Given the description of an element on the screen output the (x, y) to click on. 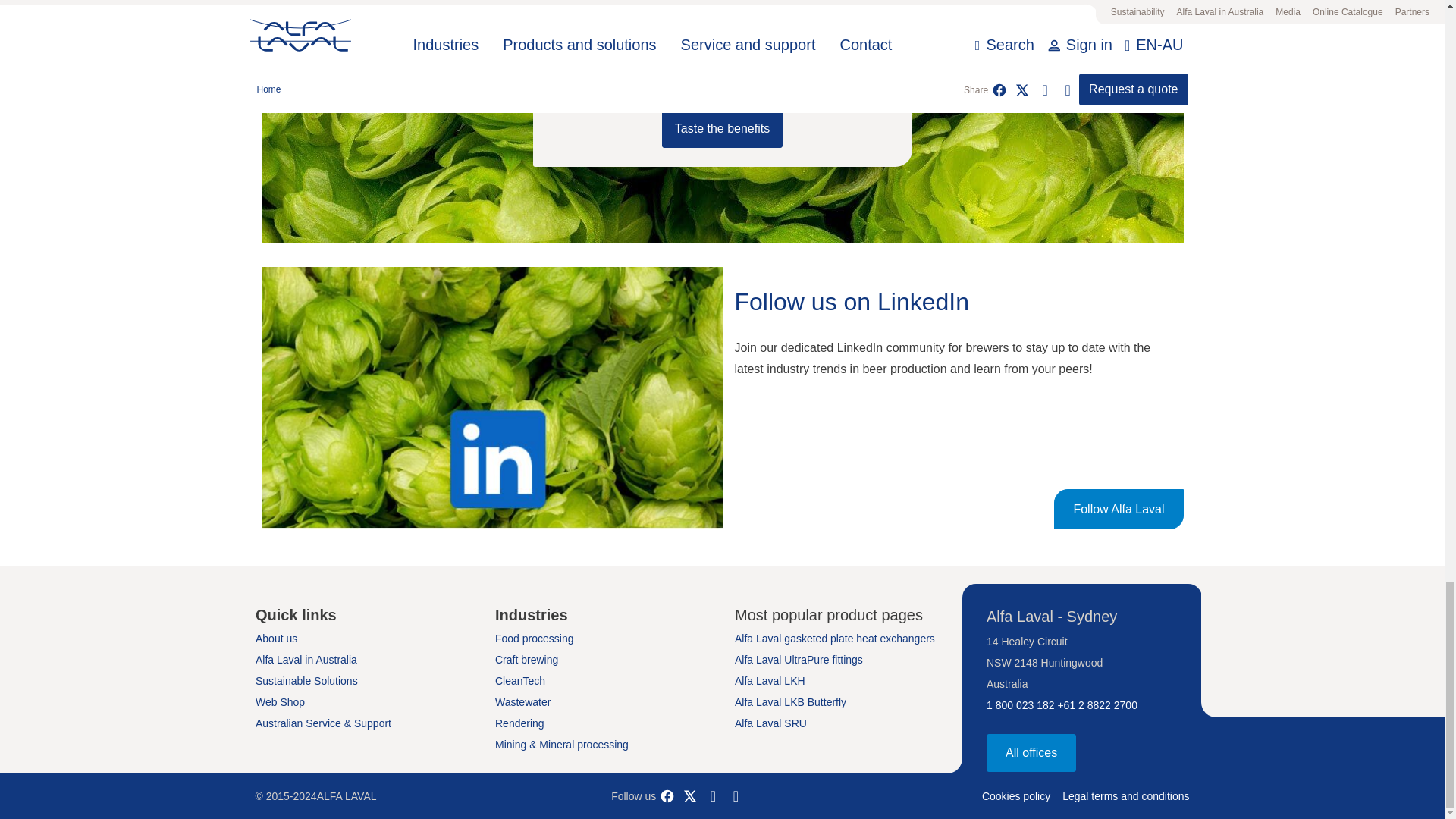
Alfa Laval LKB butterfly valves (790, 702)
Follow us on LinkedIn (712, 795)
Alfa Laval SRU (770, 723)
About us (276, 638)
Alfa Laval LKH (770, 680)
Alfa Laval gasketed plate heat exchangers (834, 638)
Follow us on Twitter (689, 795)
Food processing (534, 638)
Alfa Laval UltraPure fittings (799, 659)
Follow us on Facebook (667, 795)
